Given the description of an element on the screen output the (x, y) to click on. 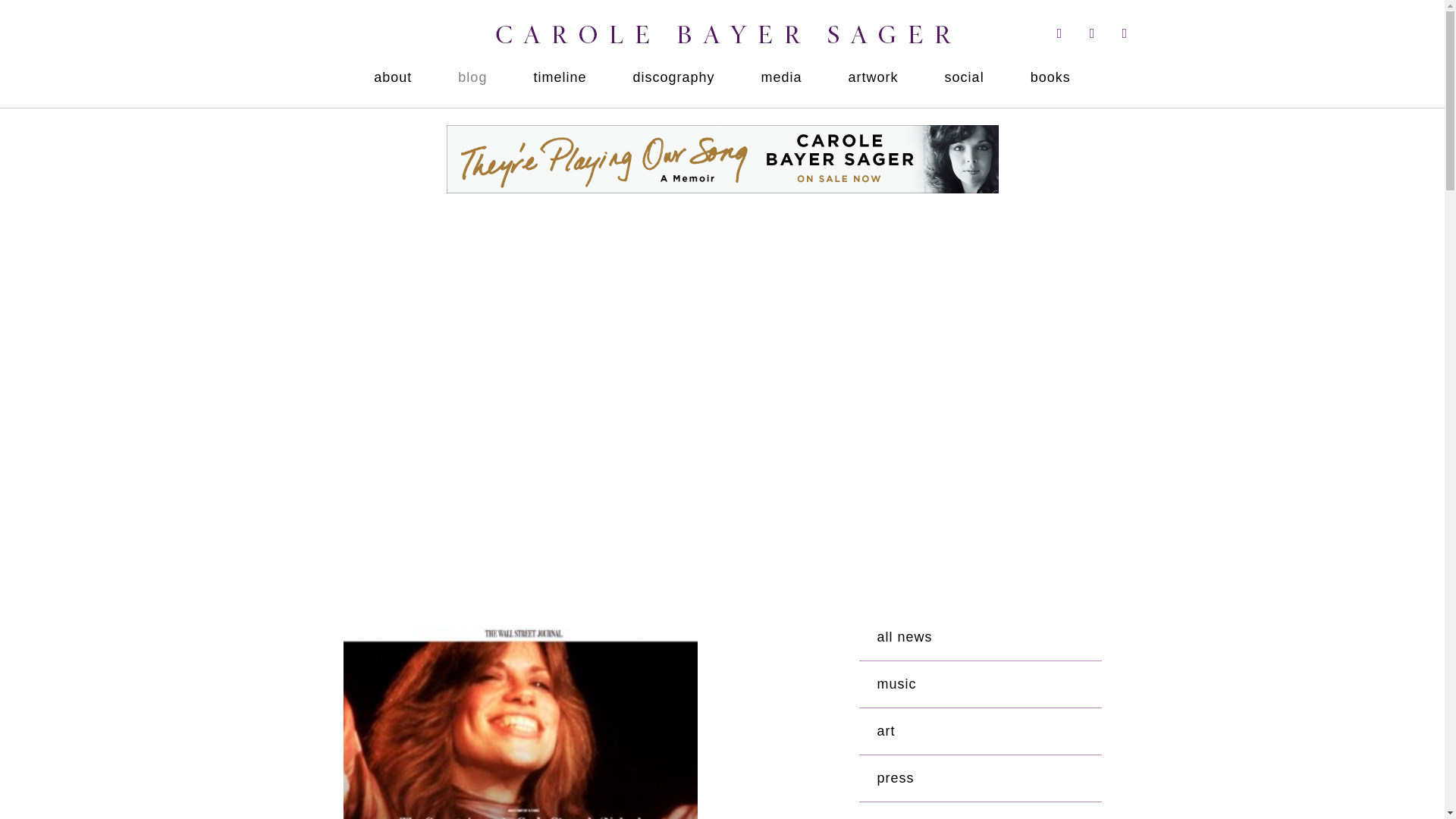
Instagram (1091, 32)
all news (989, 644)
social (964, 71)
music (989, 690)
Envelope (1123, 32)
Carole Bayer Sager (216, 30)
art (989, 737)
timeline (559, 71)
artwork (873, 71)
Carole Bayer Sager (722, 44)
media (781, 71)
books (1050, 71)
discography (673, 71)
blog (472, 71)
press (989, 785)
